Given the description of an element on the screen output the (x, y) to click on. 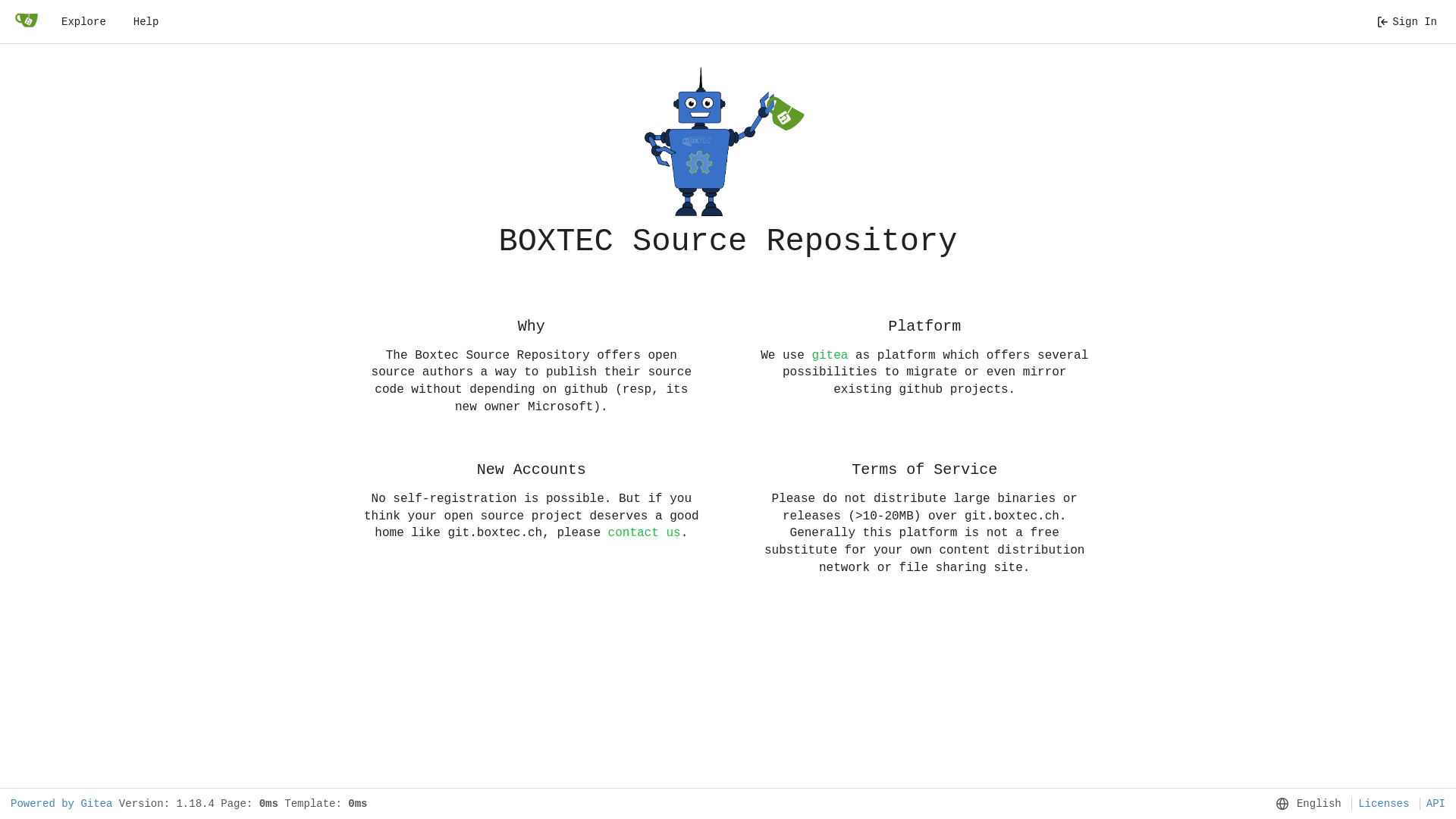
Sign In Element type: text (1406, 21)
Powered by Gitea Element type: text (61, 803)
gitea Element type: text (829, 355)
Licenses Element type: text (1379, 803)
Help Element type: text (146, 21)
API Element type: text (1432, 803)
contact us Element type: text (644, 532)
Explore Element type: text (83, 21)
